Given the description of an element on the screen output the (x, y) to click on. 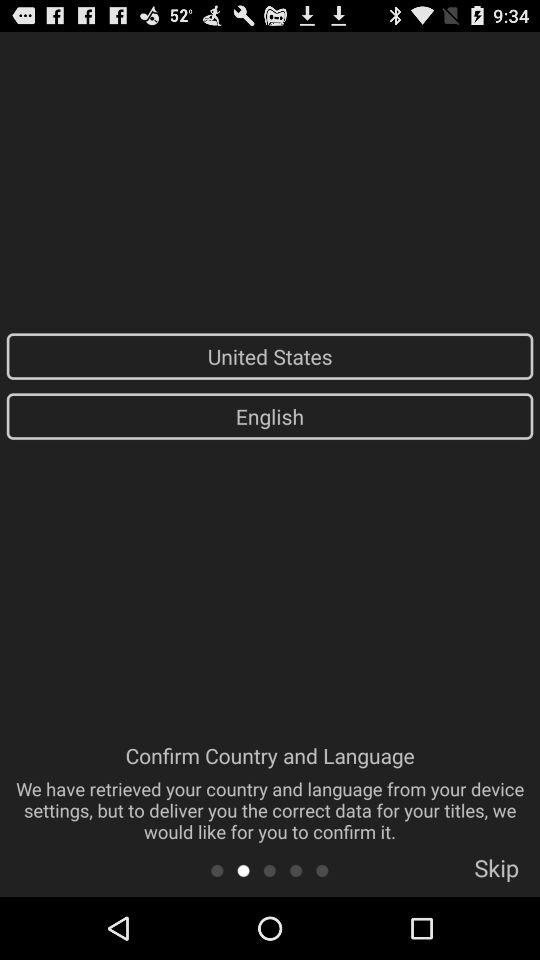
go back (216, 870)
